Given the description of an element on the screen output the (x, y) to click on. 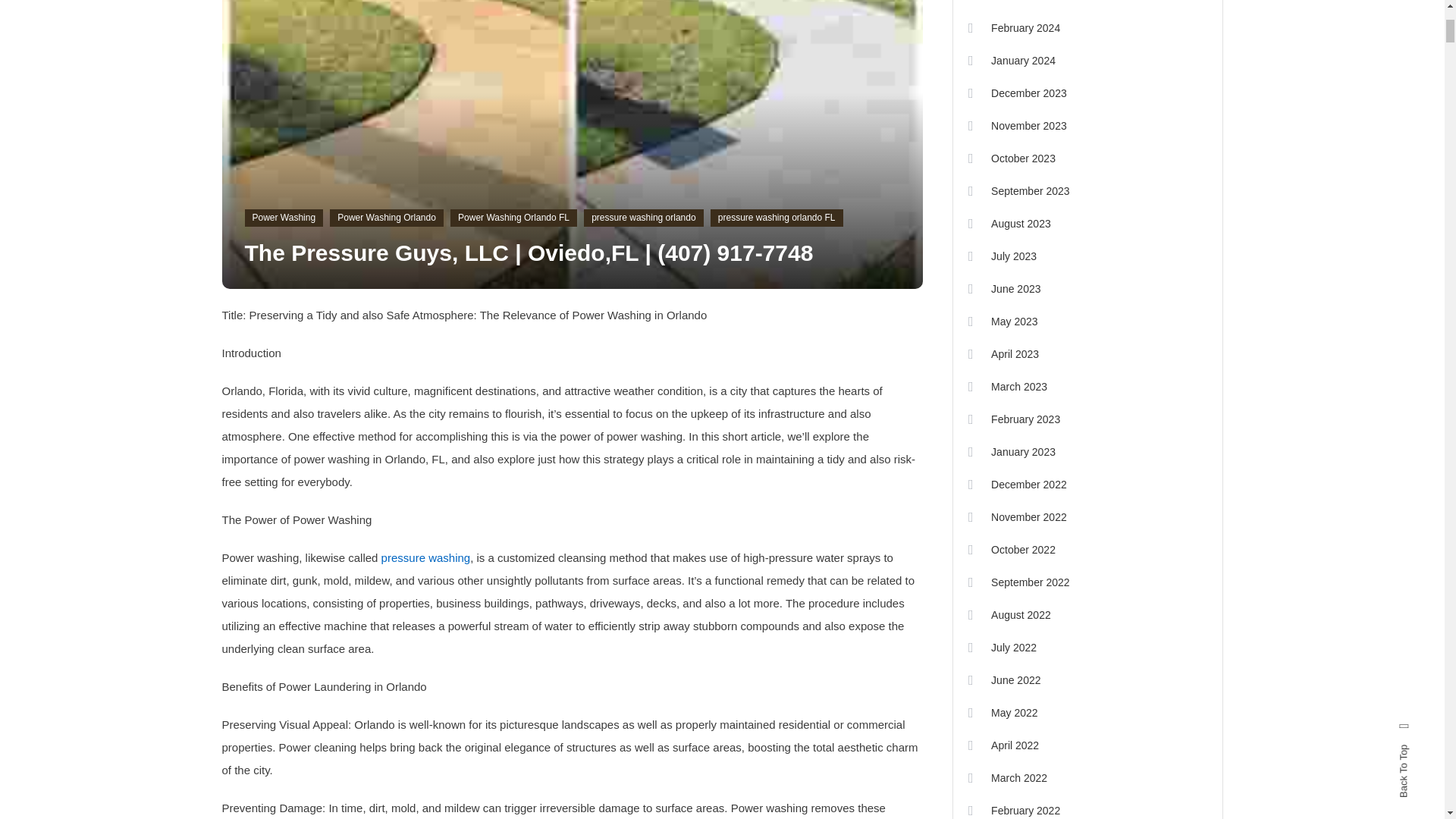
Power Washing (283, 218)
Power Washing Orlando FL (512, 218)
Power Washing Orlando (387, 218)
